Given the description of an element on the screen output the (x, y) to click on. 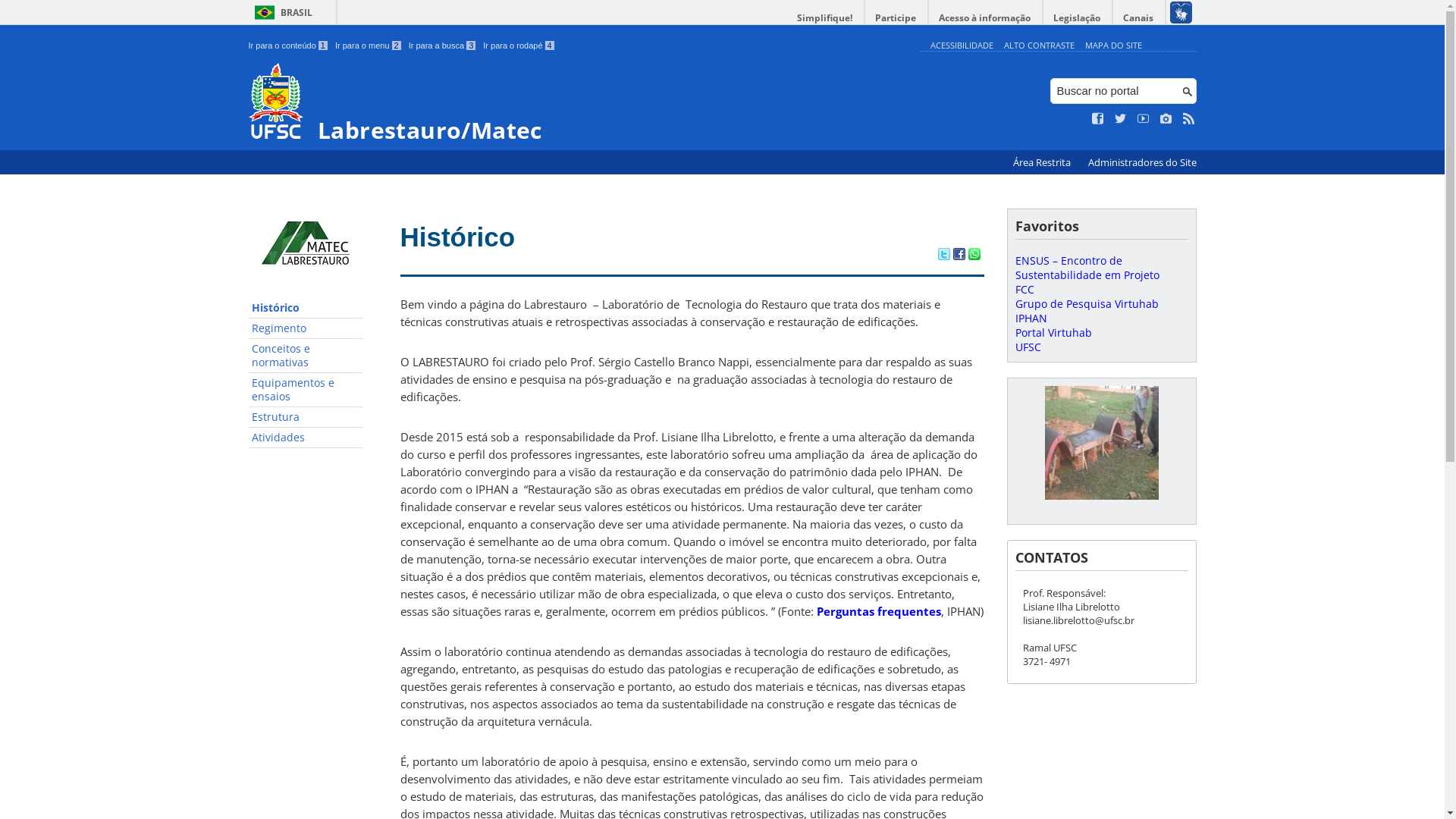
Simplifique! Element type: text (825, 18)
Participe Element type: text (895, 18)
Compartilhar no WhatsApp Element type: hover (973, 255)
Veja no Instagram Element type: hover (1166, 118)
Portal Virtuhab Element type: text (1052, 332)
Equipamentos e ensaios Element type: text (305, 390)
Administradores do Site Element type: text (1141, 162)
Compartilhar no Twitter Element type: hover (943, 255)
Siga no Twitter Element type: hover (1120, 118)
ALTO CONTRASTE Element type: text (1039, 44)
Grupo de Pesquisa Virtuhab Element type: text (1085, 303)
IPHAN Element type: text (1030, 317)
Canais Element type: text (1138, 18)
Compartilhar no Facebook Element type: hover (958, 255)
Conceitos e normativas Element type: text (305, 355)
Regimento Element type: text (305, 328)
Labrestauro/Matec Element type: text (580, 102)
Perguntas frequentes Element type: text (877, 610)
MAPA DO SITE Element type: text (1112, 44)
Atividades Element type: text (305, 437)
ACESSIBILIDADE Element type: text (960, 44)
Curta no Facebook Element type: hover (1098, 118)
BRASIL Element type: text (280, 12)
UFSC Element type: text (1027, 346)
Ir para a busca 3 Element type: text (442, 45)
Ir para o menu 2 Element type: text (368, 45)
Estrutura Element type: text (305, 417)
FCC Element type: text (1023, 289)
